Given the description of an element on the screen output the (x, y) to click on. 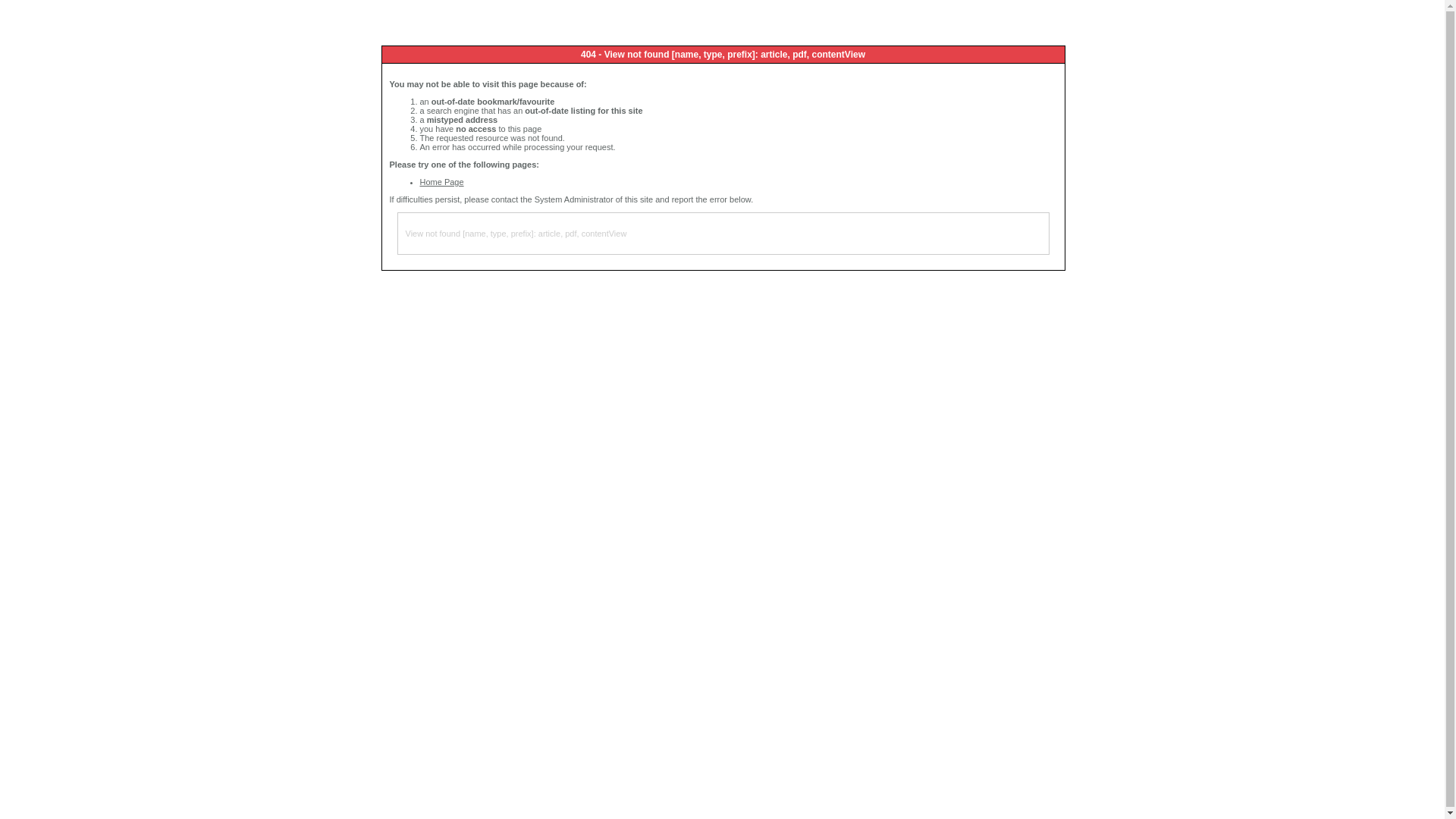
Home Page Element type: text (442, 181)
